Given the description of an element on the screen output the (x, y) to click on. 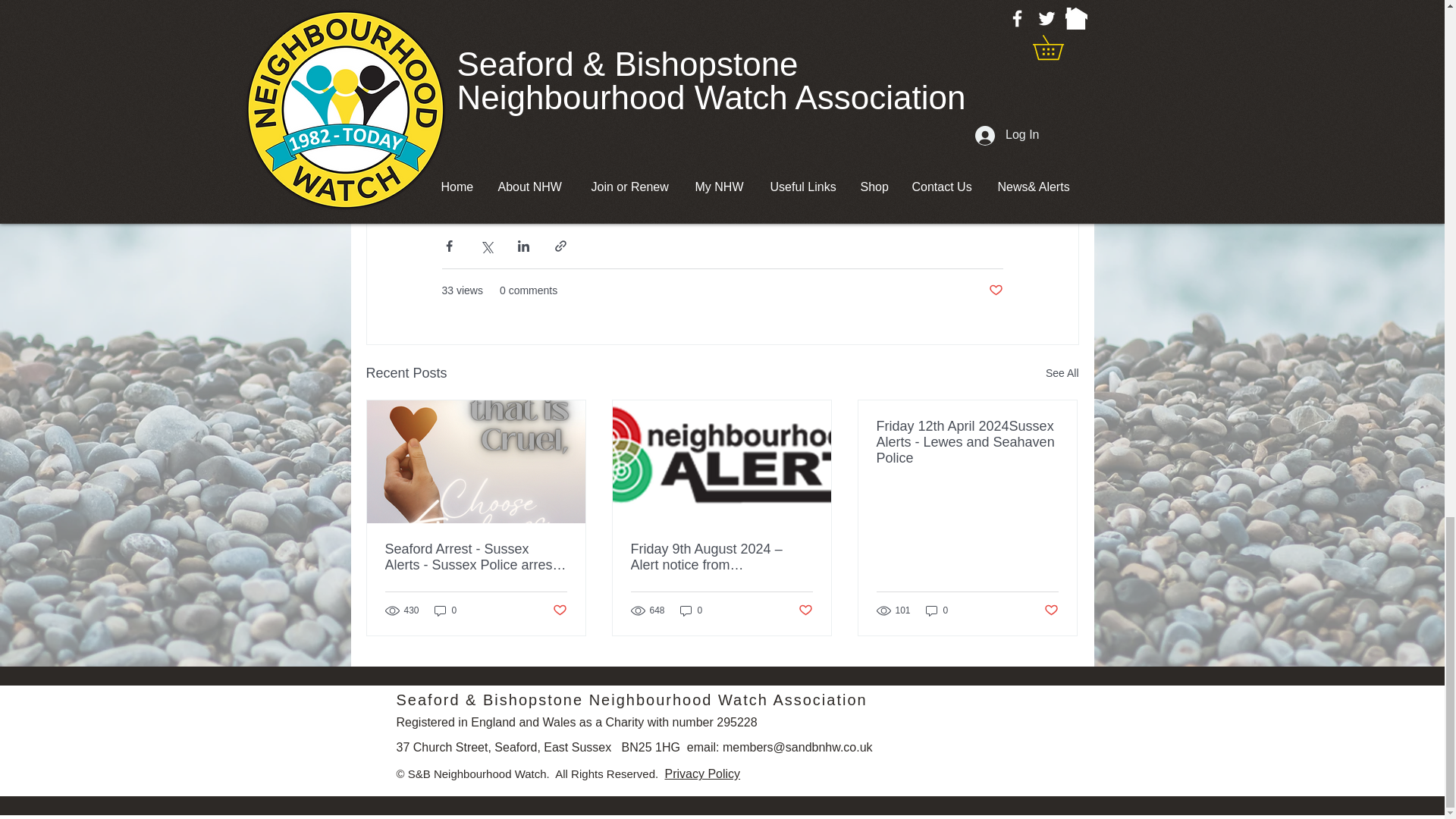
See All (1061, 373)
Post not marked as liked (995, 290)
0 (445, 610)
Post not marked as liked (558, 610)
